Given the description of an element on the screen output the (x, y) to click on. 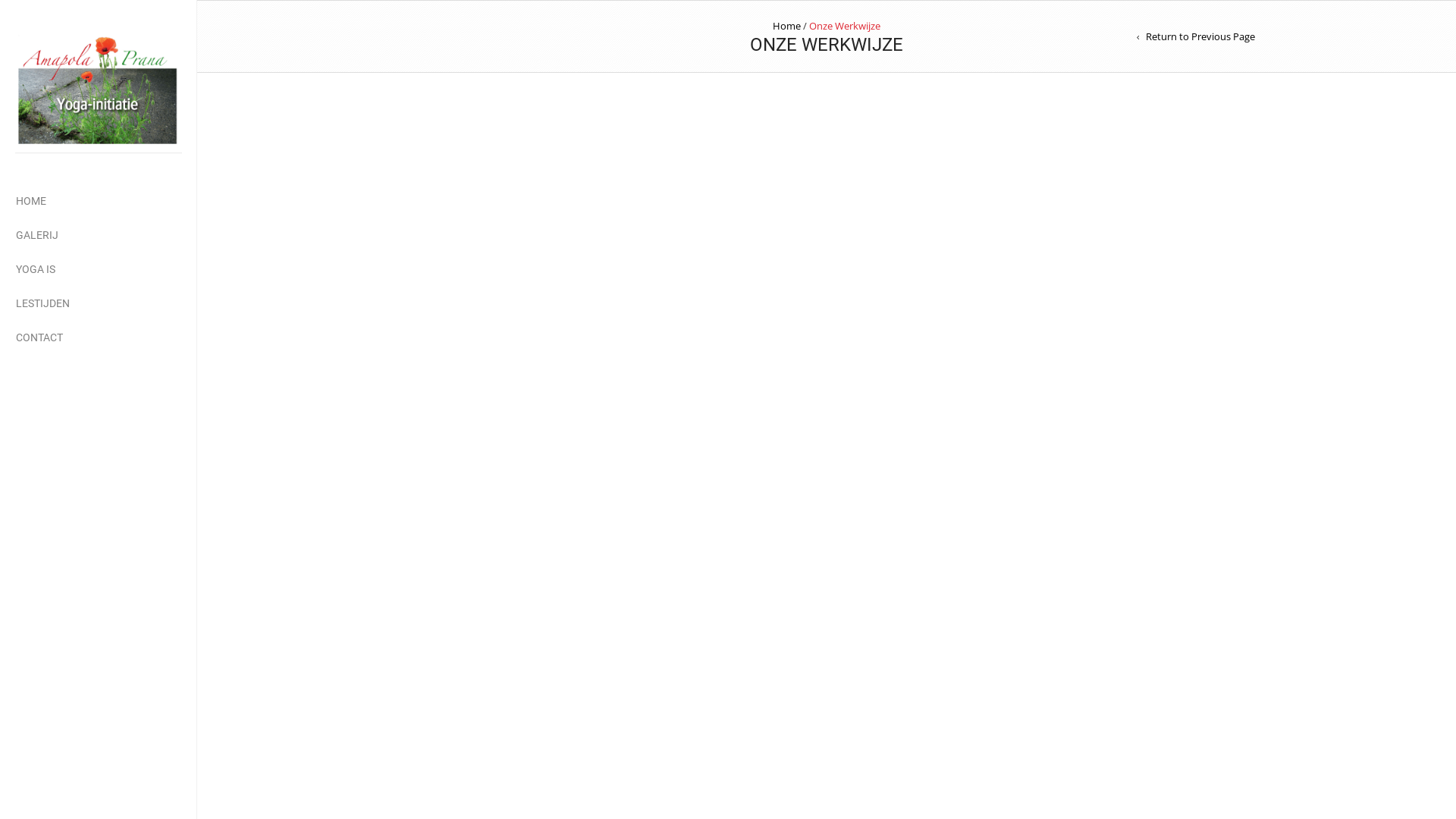
YOGA IS Element type: text (35, 269)
HOME Element type: text (30, 201)
CONTACT Element type: text (39, 337)
Return to Previous Page Element type: text (1195, 36)
Home Element type: text (786, 25)
GALERIJ Element type: text (36, 235)
LESTIJDEN Element type: text (42, 303)
